Given the description of an element on the screen output the (x, y) to click on. 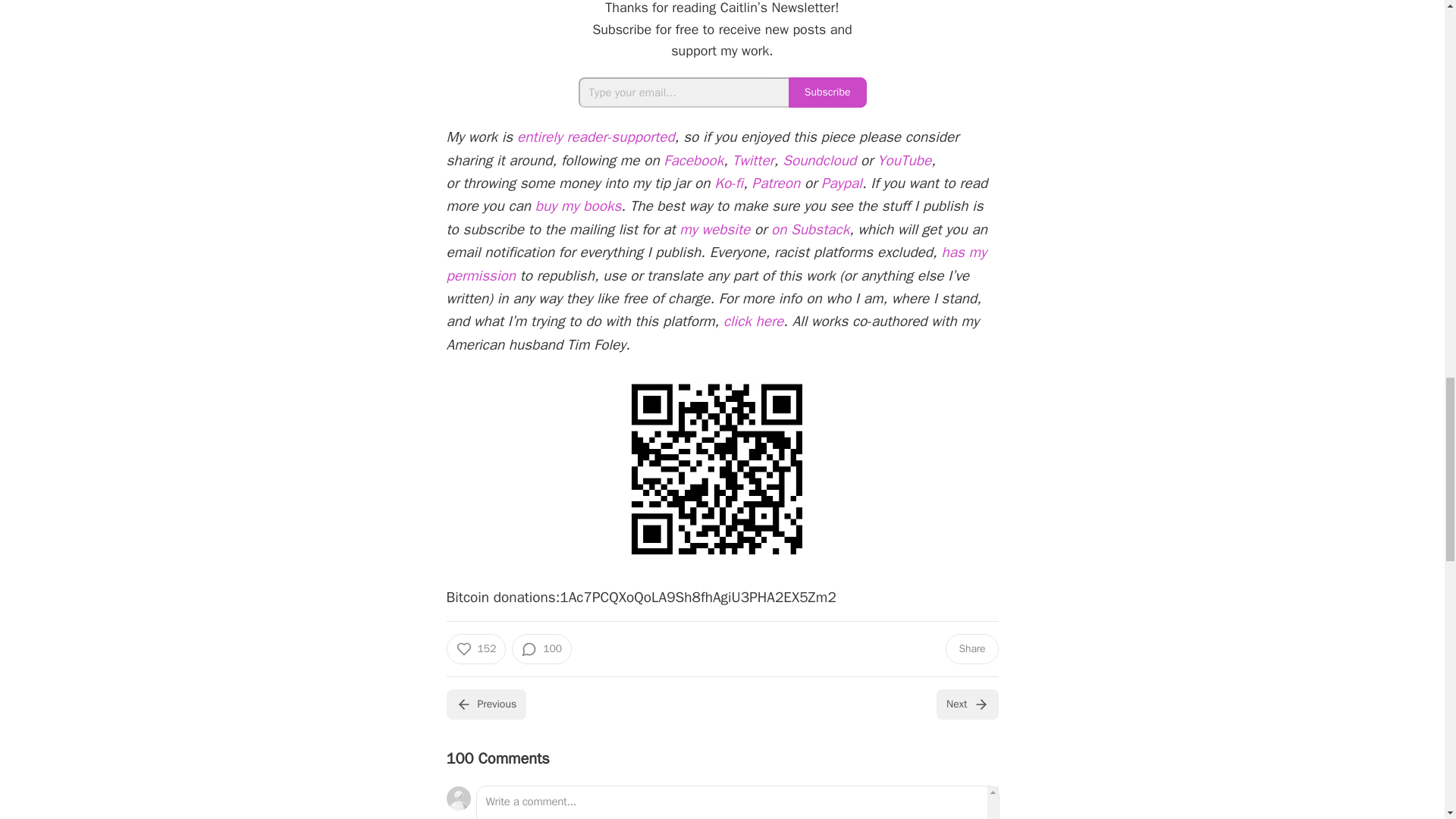
Facebook (693, 160)
click here (753, 321)
has my permission (716, 263)
my website (714, 229)
Patreon (776, 183)
Ko-fi (728, 183)
Twitter (753, 160)
YouTube (904, 160)
Paypal (841, 183)
Subscribe (827, 91)
buy my books (578, 206)
Soundcloud (819, 160)
on Substack (809, 229)
entirely reader-supported (595, 136)
